Given the description of an element on the screen output the (x, y) to click on. 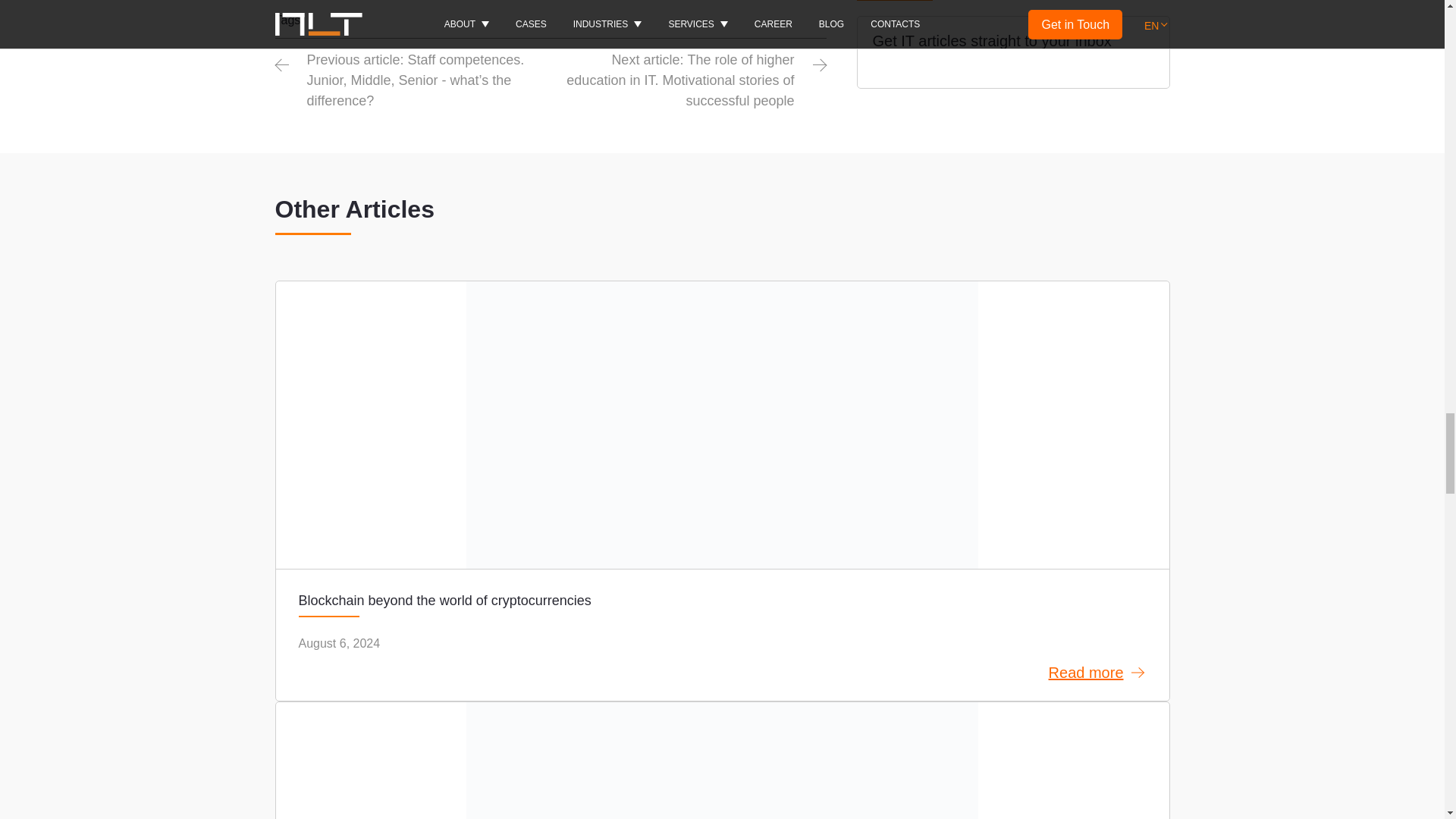
Code review with the help of AI (722, 760)
